Given the description of an element on the screen output the (x, y) to click on. 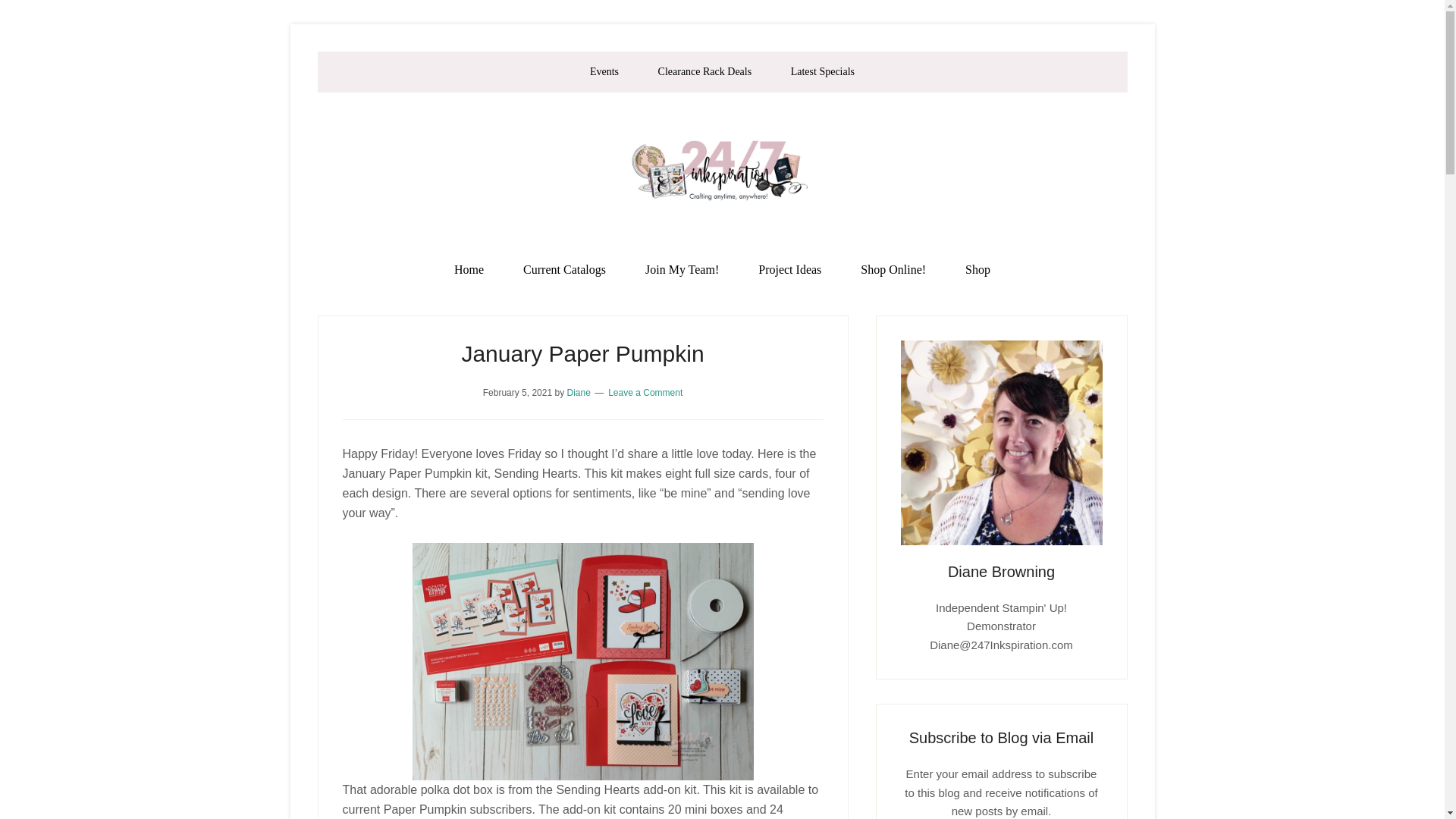
Leave a Comment (645, 392)
Clearance Rack Deals (705, 71)
Shop (978, 269)
Diane (577, 392)
Home (468, 269)
Current Catalogs (564, 269)
Latest Specials (822, 71)
Join My Team! (681, 269)
Events (604, 71)
Shop Online! (893, 269)
Project Ideas (789, 269)
247Inkspiration - Diane Browning, Stampin' Up! Demonstrator (721, 170)
